Given the description of an element on the screen output the (x, y) to click on. 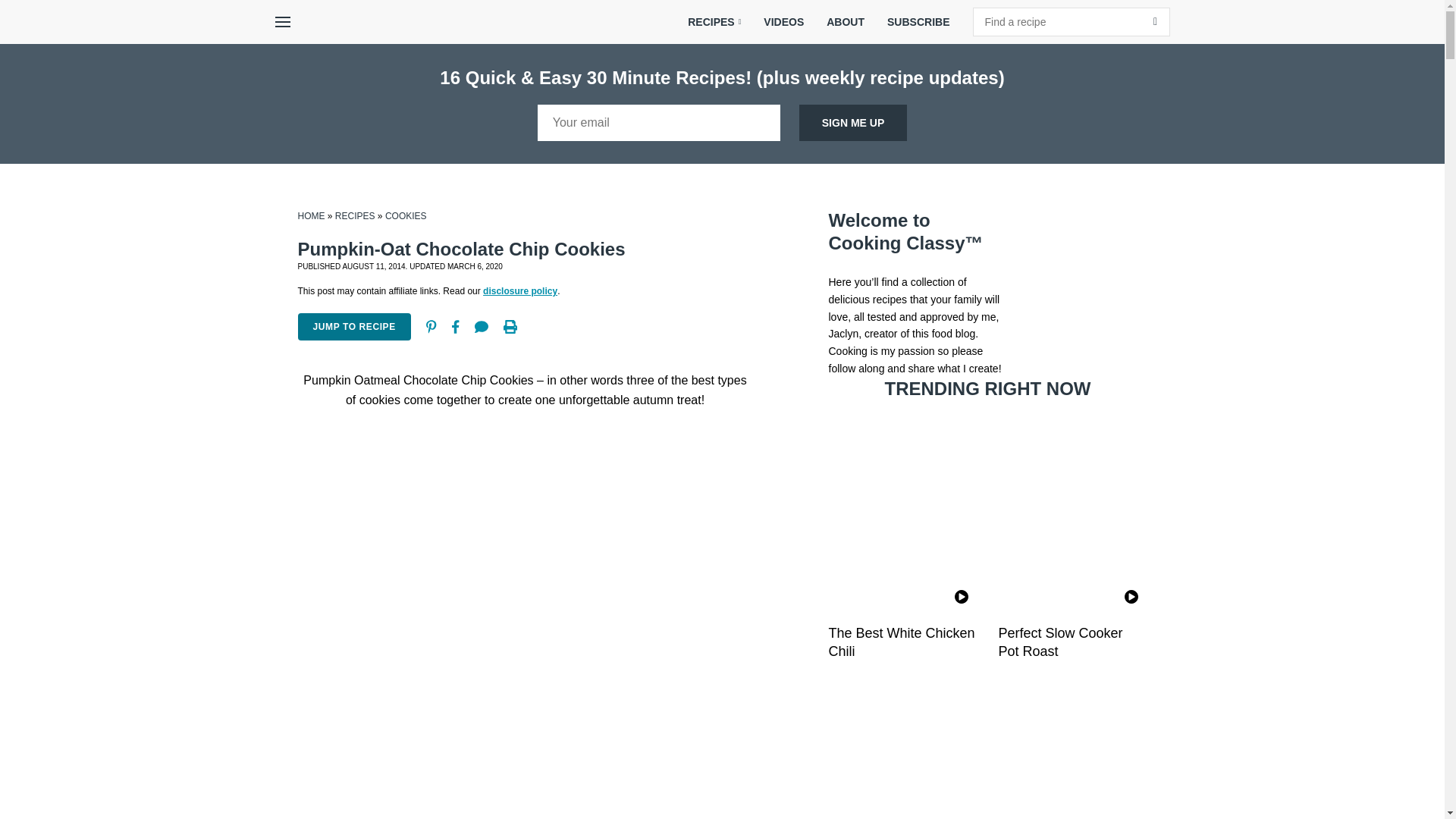
VIDEOS (783, 22)
Submit (1155, 22)
SUBSCRIBE (918, 22)
Comments (481, 326)
ABOUT (845, 22)
Print (510, 326)
Share (455, 326)
Sign Me Up (853, 122)
Pin (431, 326)
RECIPES (714, 22)
